Given the description of an element on the screen output the (x, y) to click on. 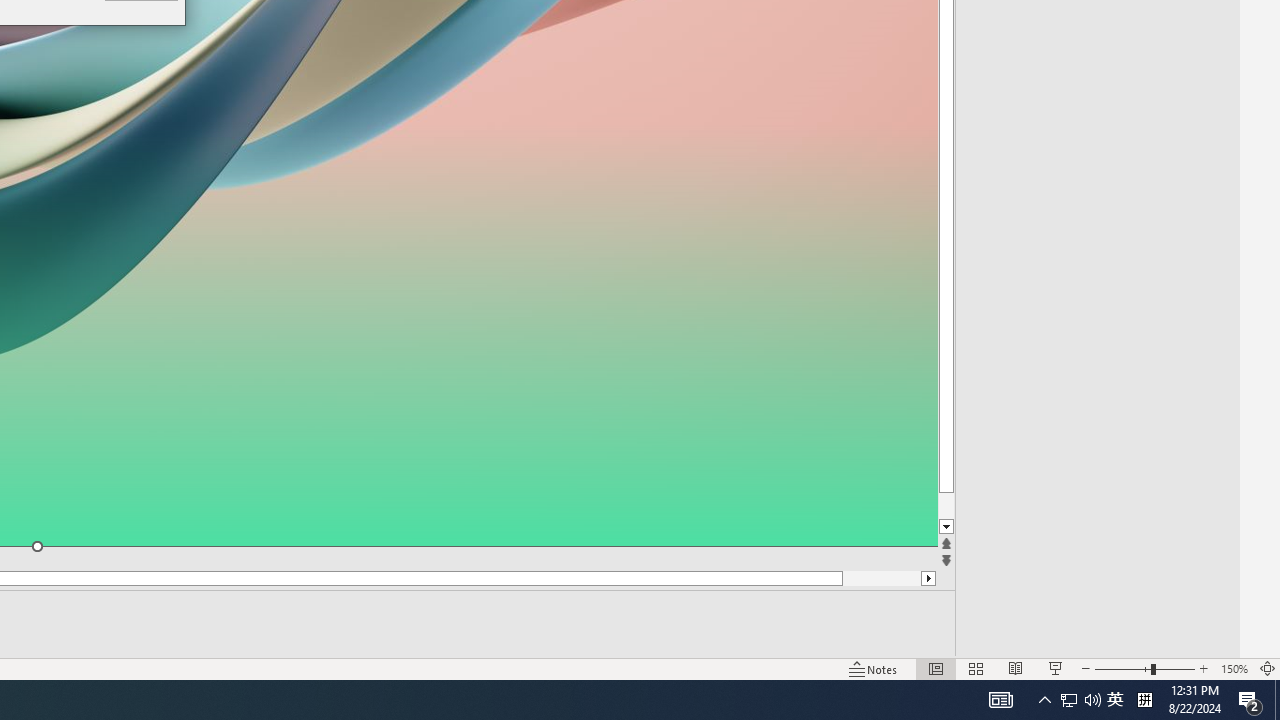
Show desktop (1277, 699)
Action Center, 2 new notifications (1250, 699)
Page down (983, 506)
Q2790: 100% (1069, 699)
Line down (1092, 699)
Notification Chevron (983, 527)
Tray Input Indicator - Chinese (Simplified, China) (1044, 699)
